Given the description of an element on the screen output the (x, y) to click on. 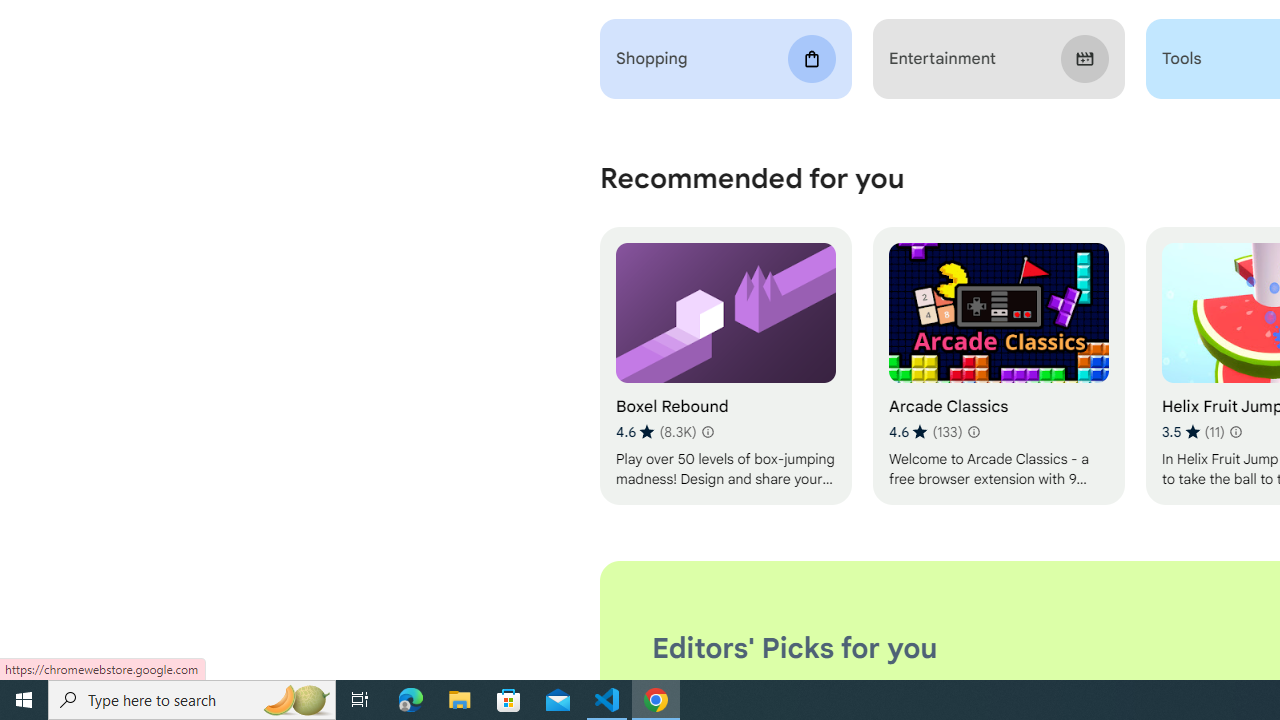
Learn more about results and reviews "Boxel Rebound" (707, 431)
Entertainment (998, 59)
Average rating 4.6 out of 5 stars. 8.3K ratings. (655, 431)
Average rating 3.5 out of 5 stars. 11 ratings. (1192, 431)
Boxel Rebound (725, 366)
Arcade Classics (998, 366)
Average rating 4.6 out of 5 stars. 133 ratings. (925, 431)
Shopping (725, 59)
Learn more about results and reviews "Arcade Classics" (972, 431)
